Given the description of an element on the screen output the (x, y) to click on. 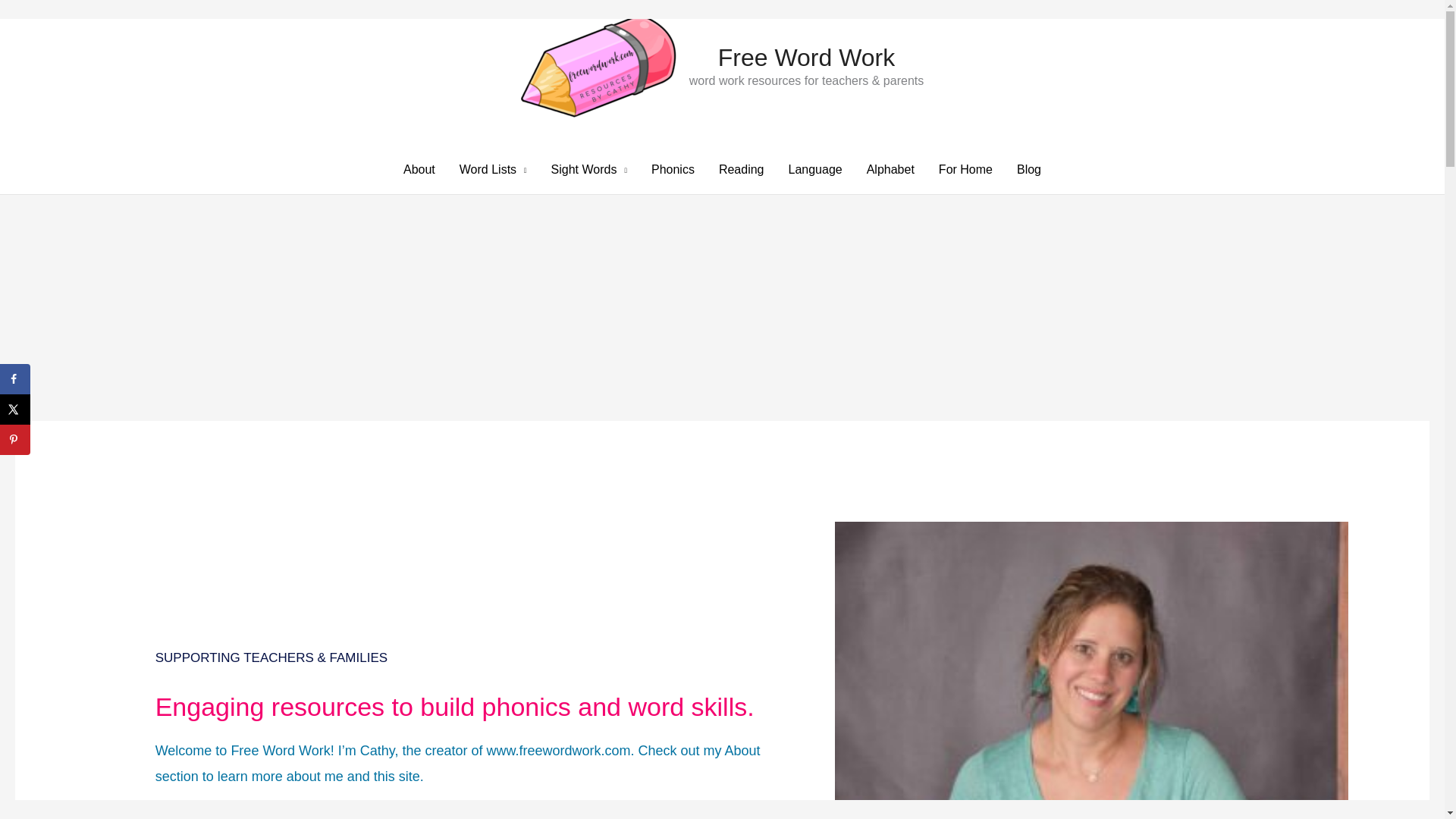
About (418, 169)
Word Lists (492, 169)
Save to Pinterest (15, 440)
Alphabet (890, 169)
Sight Words (588, 169)
Blog (1028, 169)
Language (815, 169)
For Home (965, 169)
Reading (741, 169)
About (742, 750)
